Given the description of an element on the screen output the (x, y) to click on. 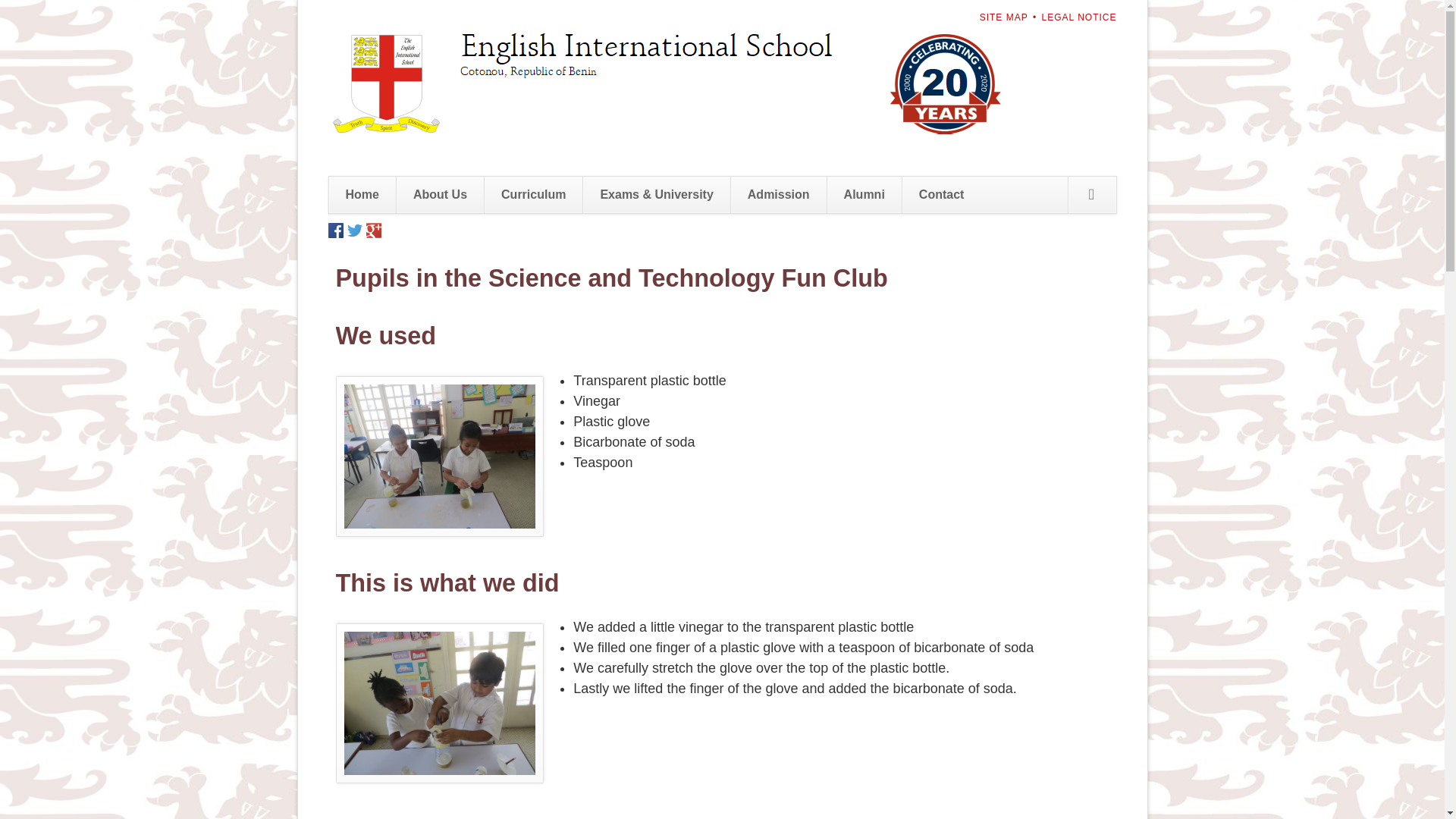
Contact (941, 194)
Search (1091, 194)
Admission (778, 194)
Curriculum (532, 194)
LEGAL NOTICE (1079, 17)
Alumni (864, 194)
SITE MAP (1003, 17)
